Given the description of an element on the screen output the (x, y) to click on. 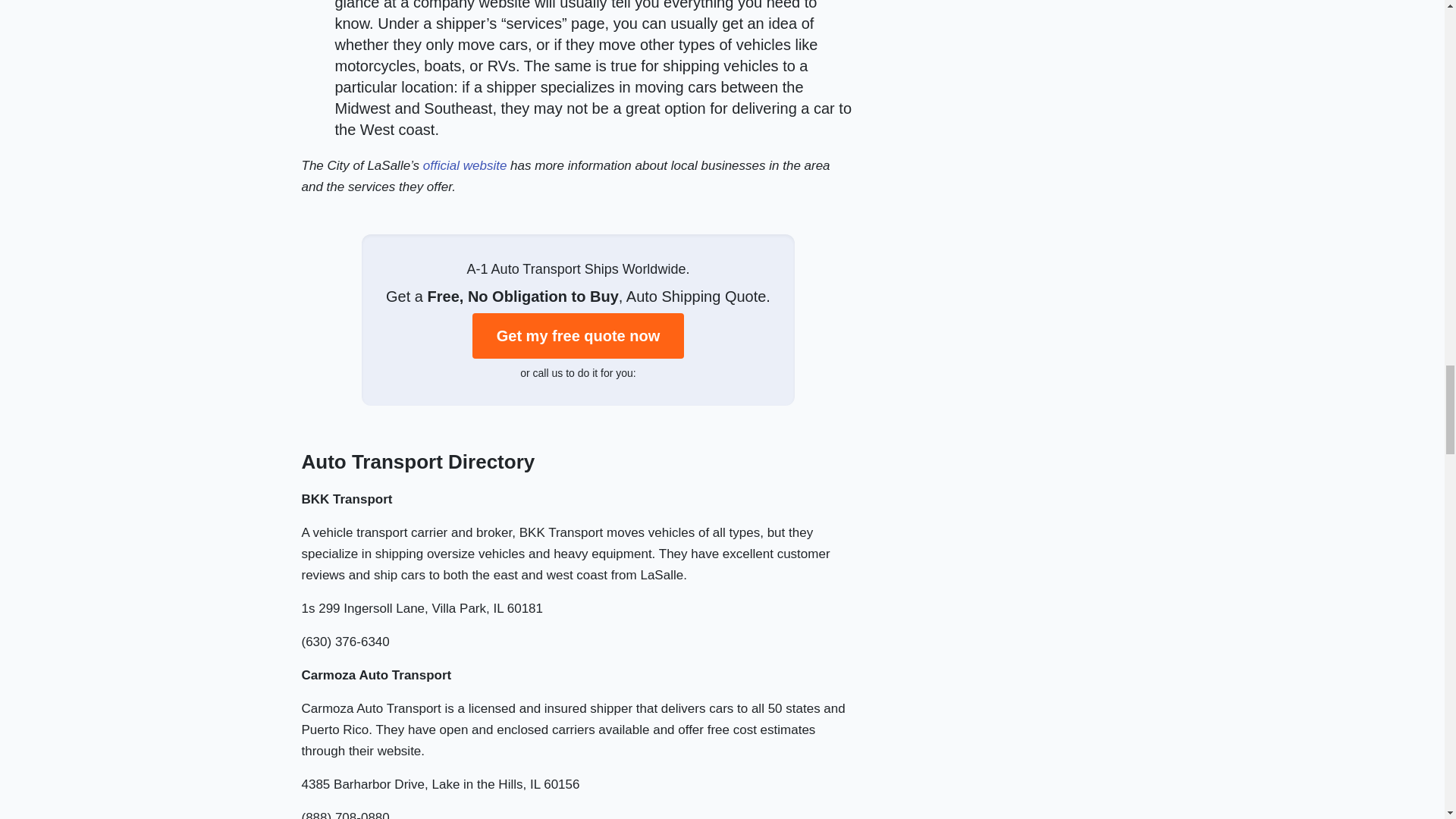
Get my free quote now (577, 335)
official website (464, 165)
official website (464, 165)
